Given the description of an element on the screen output the (x, y) to click on. 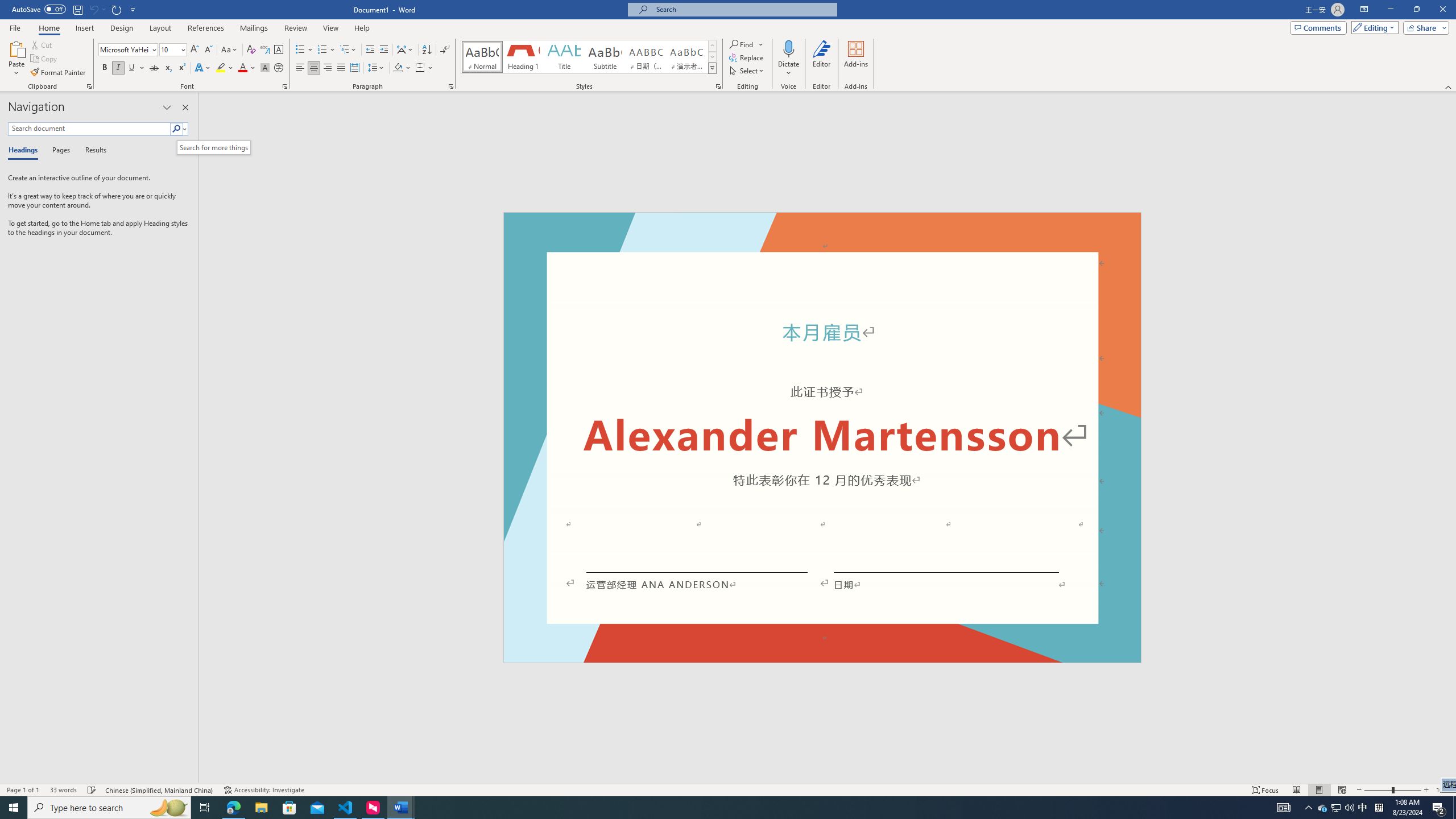
Decorative (822, 437)
Font Color Red (241, 67)
